Given the description of an element on the screen output the (x, y) to click on. 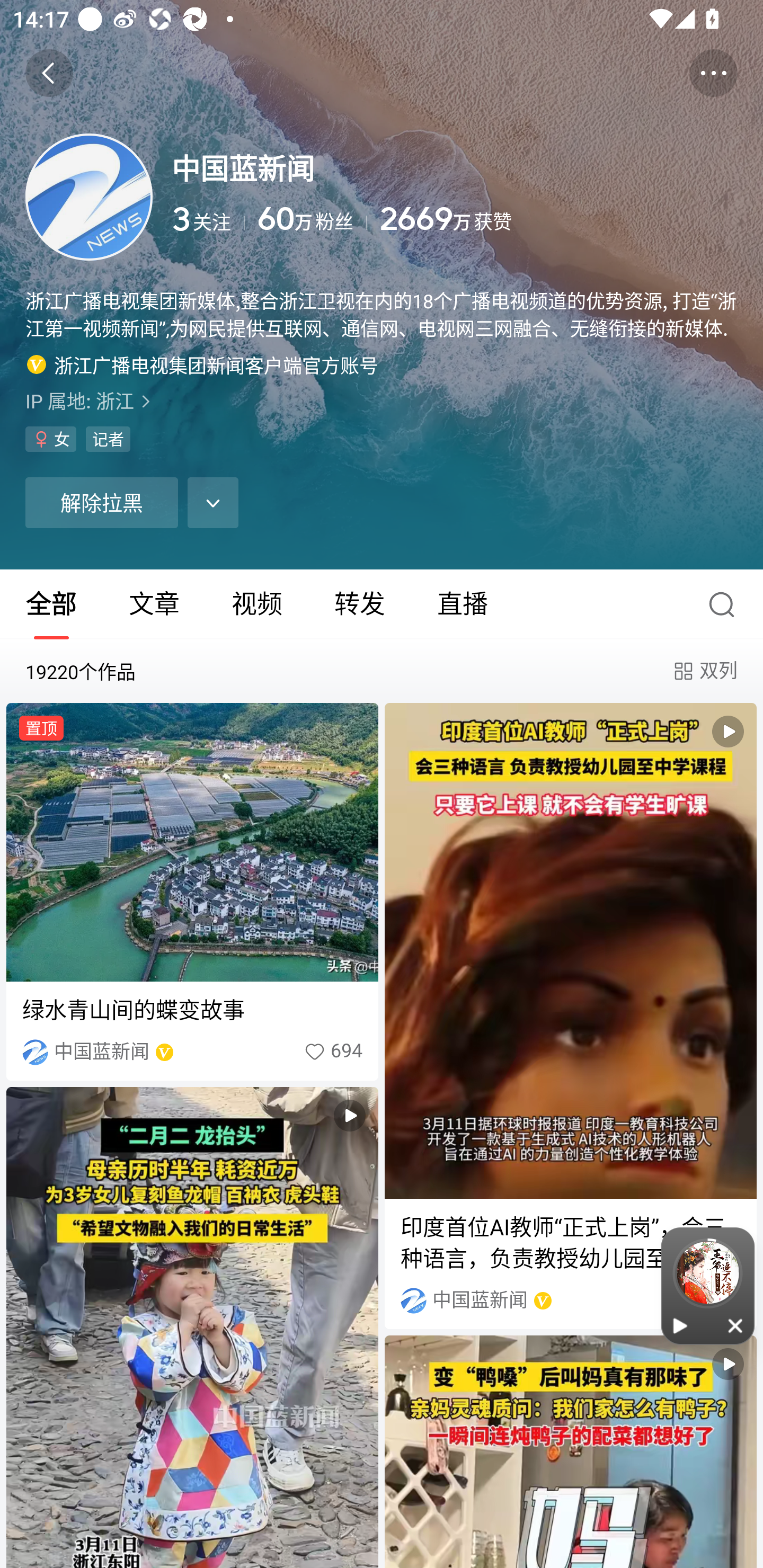
返回 (49, 72)
更多操作 (713, 72)
头像 (88, 196)
3 关注 (207, 219)
60万 粉丝 (311, 219)
2669万 获赞 (558, 219)
浙江广播电视集团新闻客户端官方账号 (202, 364)
IP 属地: 浙江 (381, 400)
性别女 女 (50, 438)
记者 (107, 438)
解除拉黑 (101, 502)
展开相关推荐，按钮 (212, 502)
全部 (51, 604)
文章 (154, 604)
视频 (256, 604)
转发 (359, 604)
直播 (462, 604)
搜索 (726, 604)
双列 当前双列点按切换至单列 (703, 670)
置顶 绿水青山间的蝶变故事  作者,中国蓝新闻,认证用户 按钮 中国蓝新闻 赞694 赞 (192, 891)
视频 (192, 1327)
播放 关闭 (708, 1286)
播放 (680, 1325)
关闭 (736, 1325)
视频 (570, 1451)
